Given the description of an element on the screen output the (x, y) to click on. 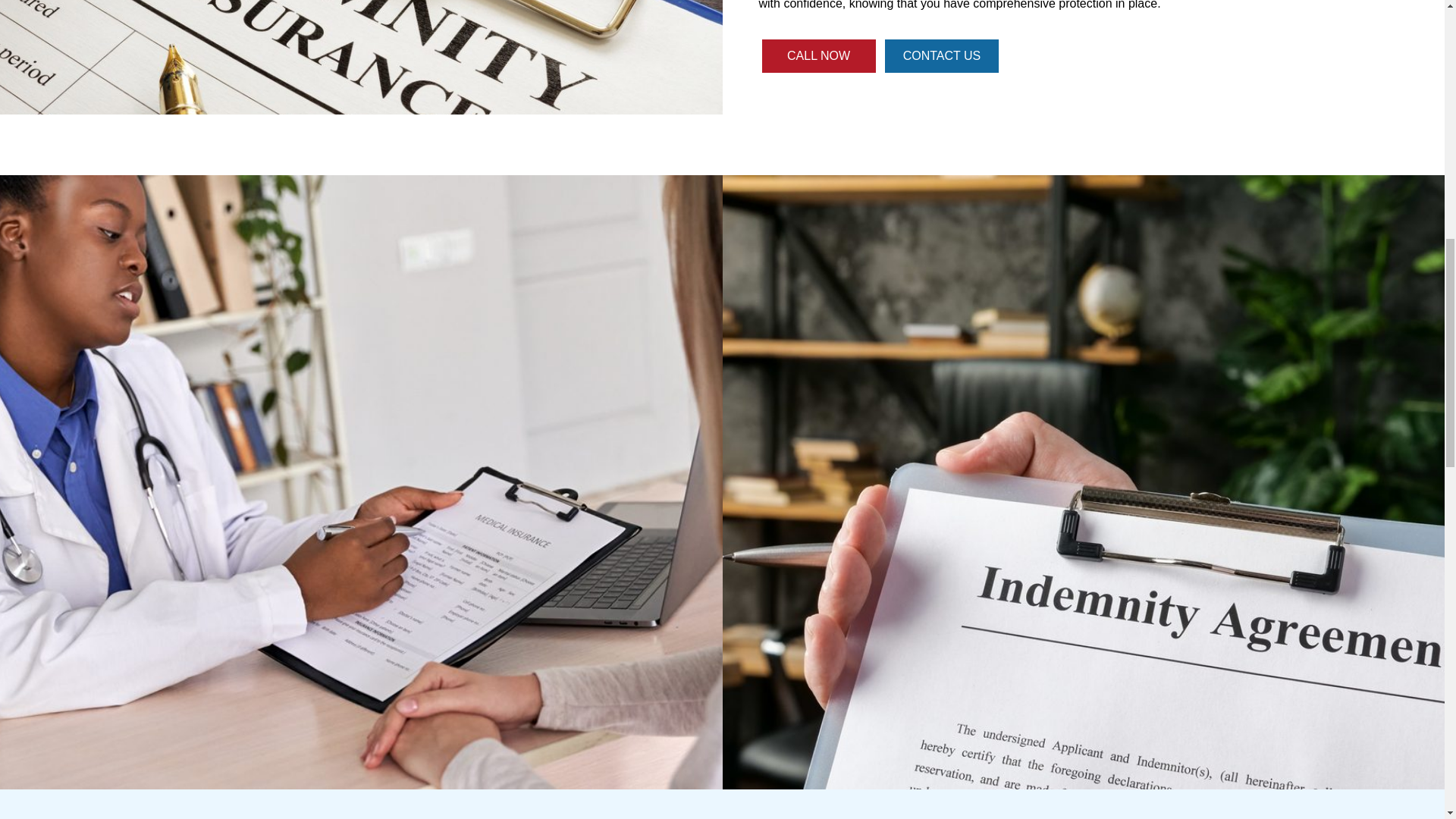
 Contact Us (941, 55)
Call Us (818, 55)
